Given the description of an element on the screen output the (x, y) to click on. 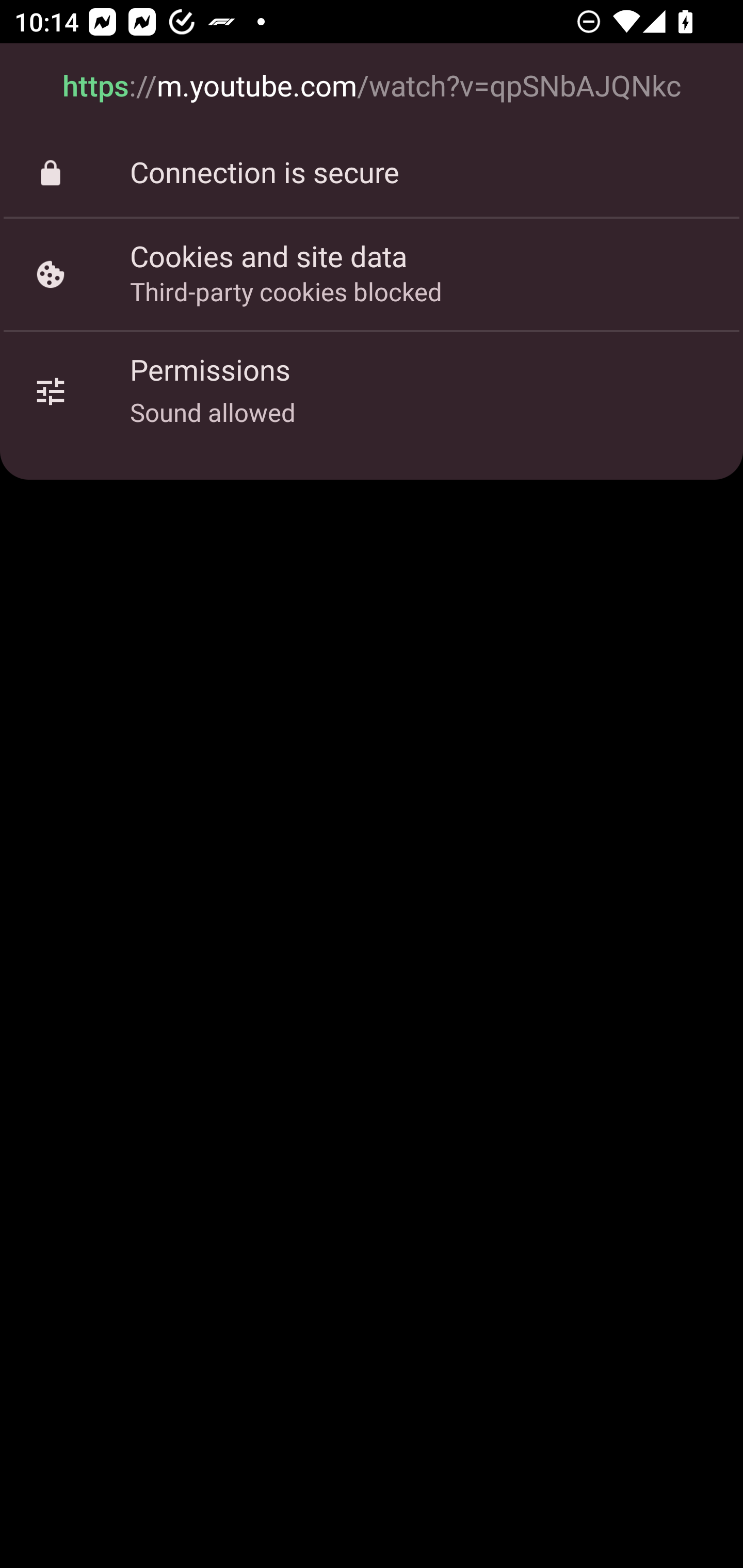
https://m.youtube.com/watch?v=qpSNbAJQNkc (371, 86)
Connection is secure (371, 173)
Cookies and site data Third-party cookies blocked (371, 273)
Permissions Sound allowed (371, 391)
